Given the description of an element on the screen output the (x, y) to click on. 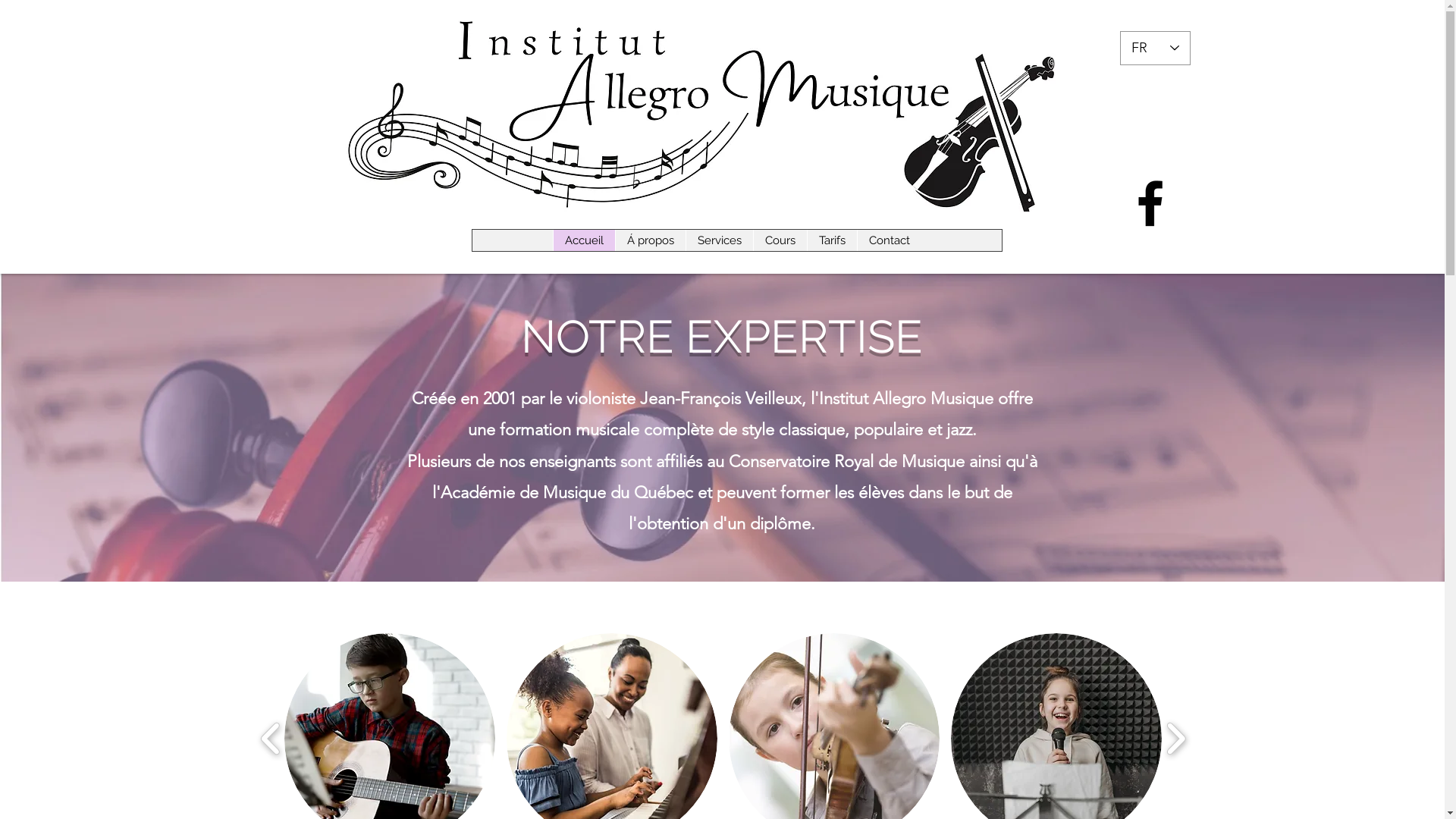
Cours Element type: text (779, 240)
final 1.jpg Element type: hover (722, 111)
Contact Element type: text (888, 240)
Tarifs Element type: text (831, 240)
Accueil Element type: text (583, 240)
Services Element type: text (719, 240)
